Given the description of an element on the screen output the (x, y) to click on. 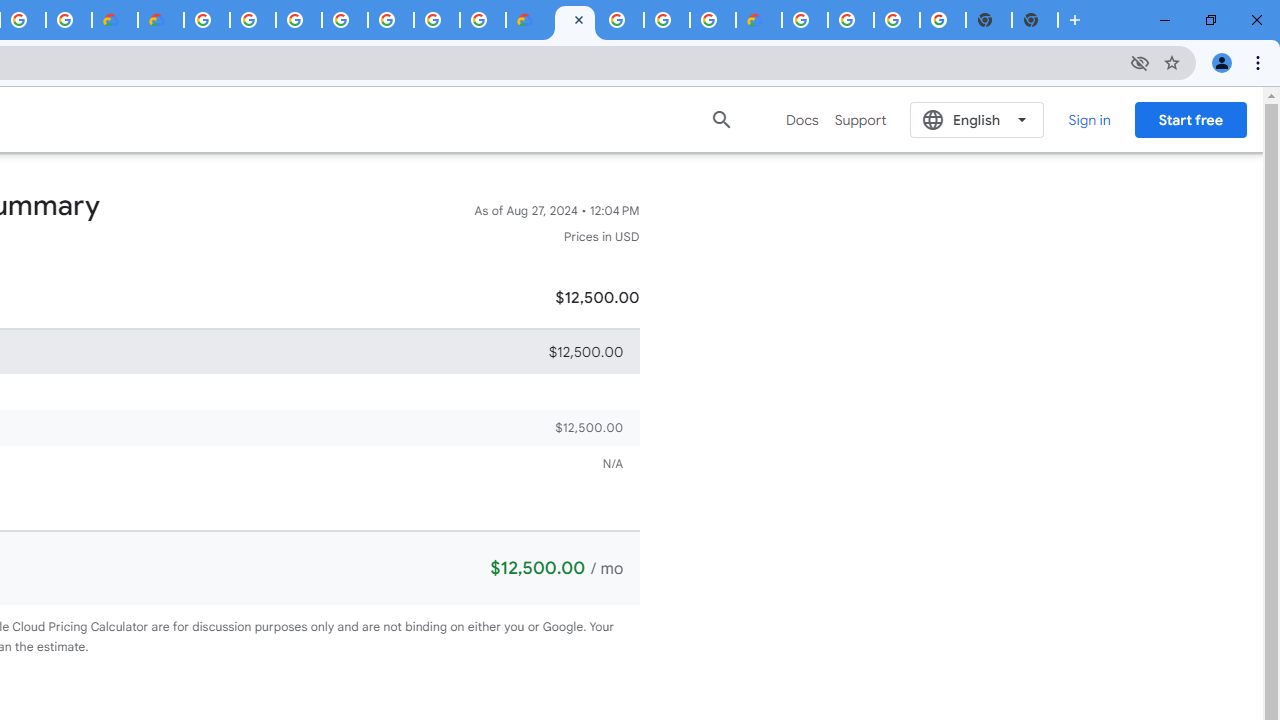
New Tab (1035, 20)
Start free (1190, 119)
Google Cloud Platform (620, 20)
Support (860, 119)
Google Workspace - Specific Terms (69, 20)
Customer Care | Google Cloud (115, 20)
Google Cloud Platform (207, 20)
Browse Chrome as a guest - Computer - Google Chrome Help (666, 20)
